Given the description of an element on the screen output the (x, y) to click on. 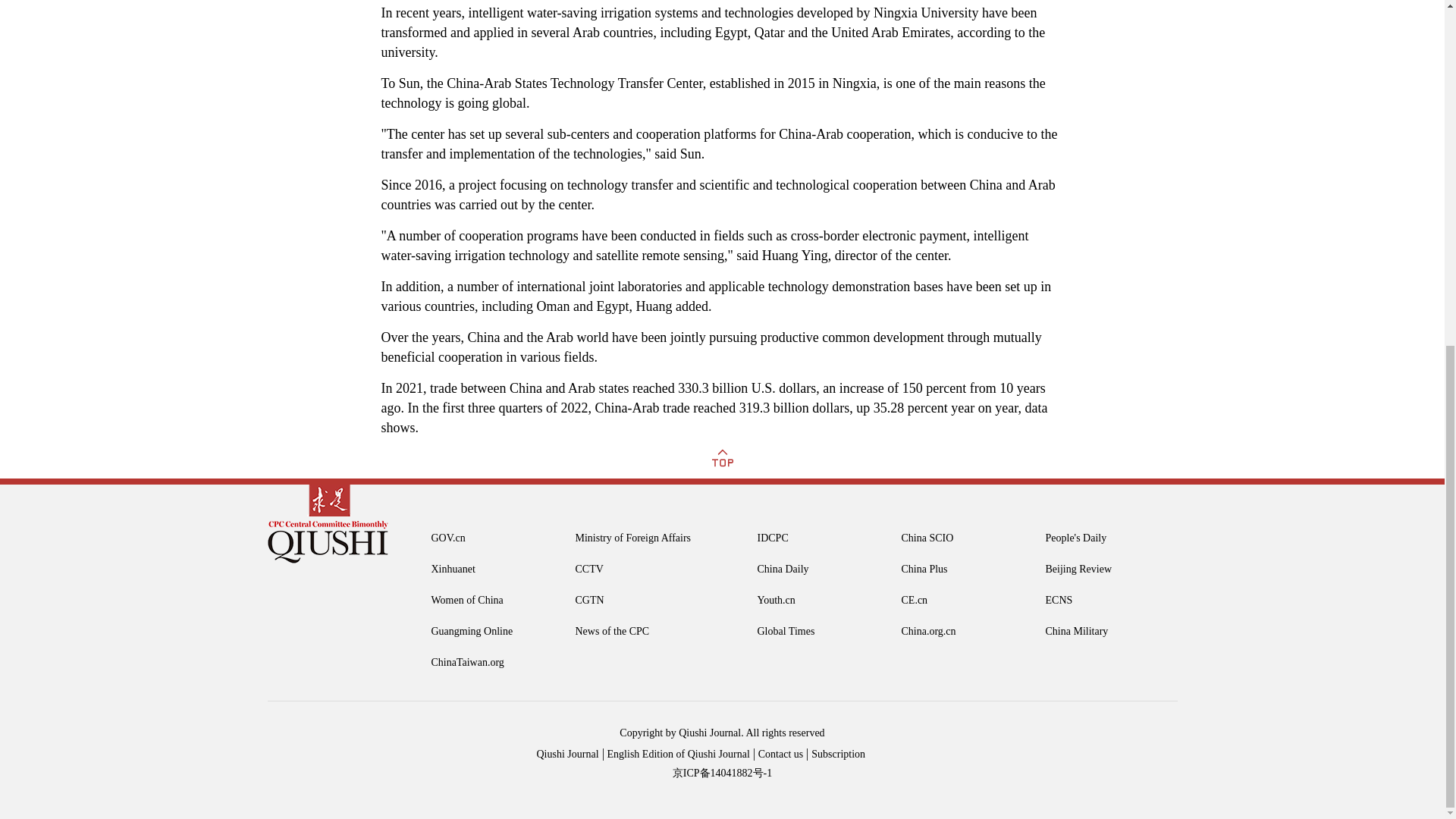
GOV.cn (475, 537)
